Given the description of an element on the screen output the (x, y) to click on. 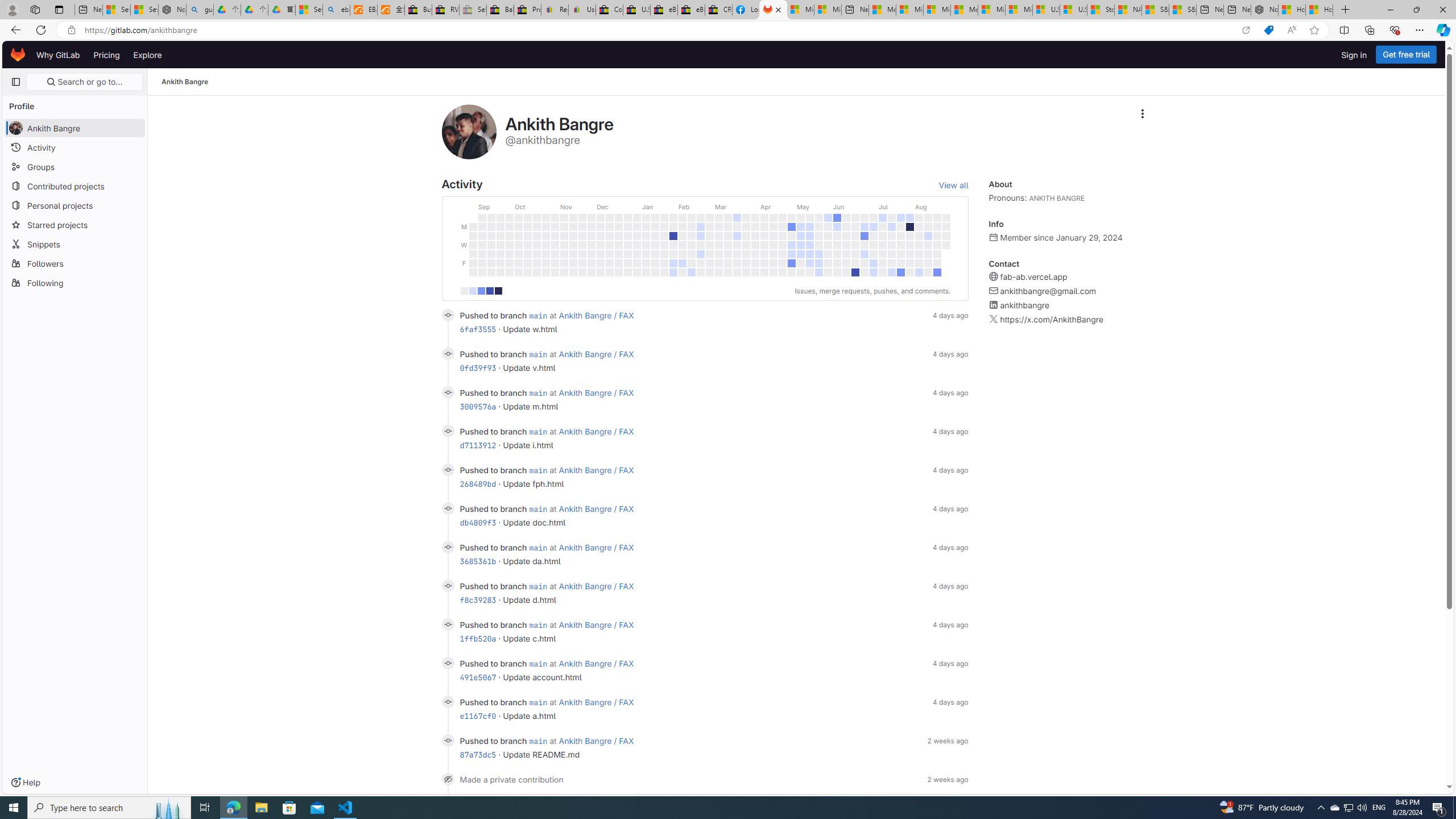
Register: Create a personal eBay account (554, 9)
Why GitLab (58, 54)
Press Room - eBay Inc. (527, 9)
fab-ab.vercel.app (1033, 277)
Read aloud this page (Ctrl+Shift+U) (1291, 29)
